Given the description of an element on the screen output the (x, y) to click on. 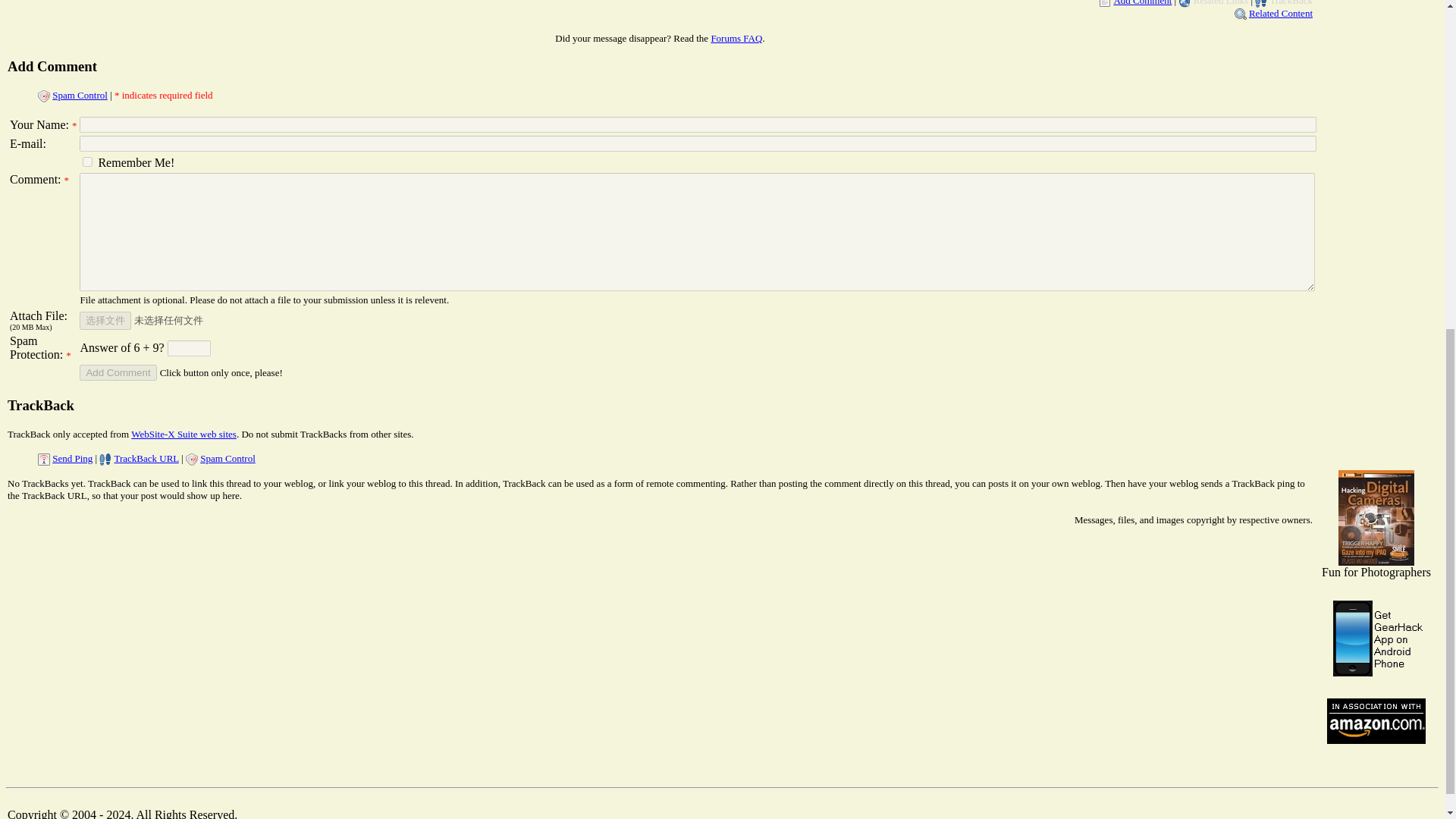
WebSite-X Suite web sites (183, 433)
Forums FAQ (735, 38)
Send Ping (72, 458)
Add Comment (117, 372)
Spam Control (79, 94)
TrackBack (40, 405)
yes (87, 162)
Add Comment (1142, 2)
Spam Control (228, 458)
TrackBack URL (145, 458)
Add Comment (52, 66)
Related Content (1281, 12)
Add Comment (117, 372)
